Given the description of an element on the screen output the (x, y) to click on. 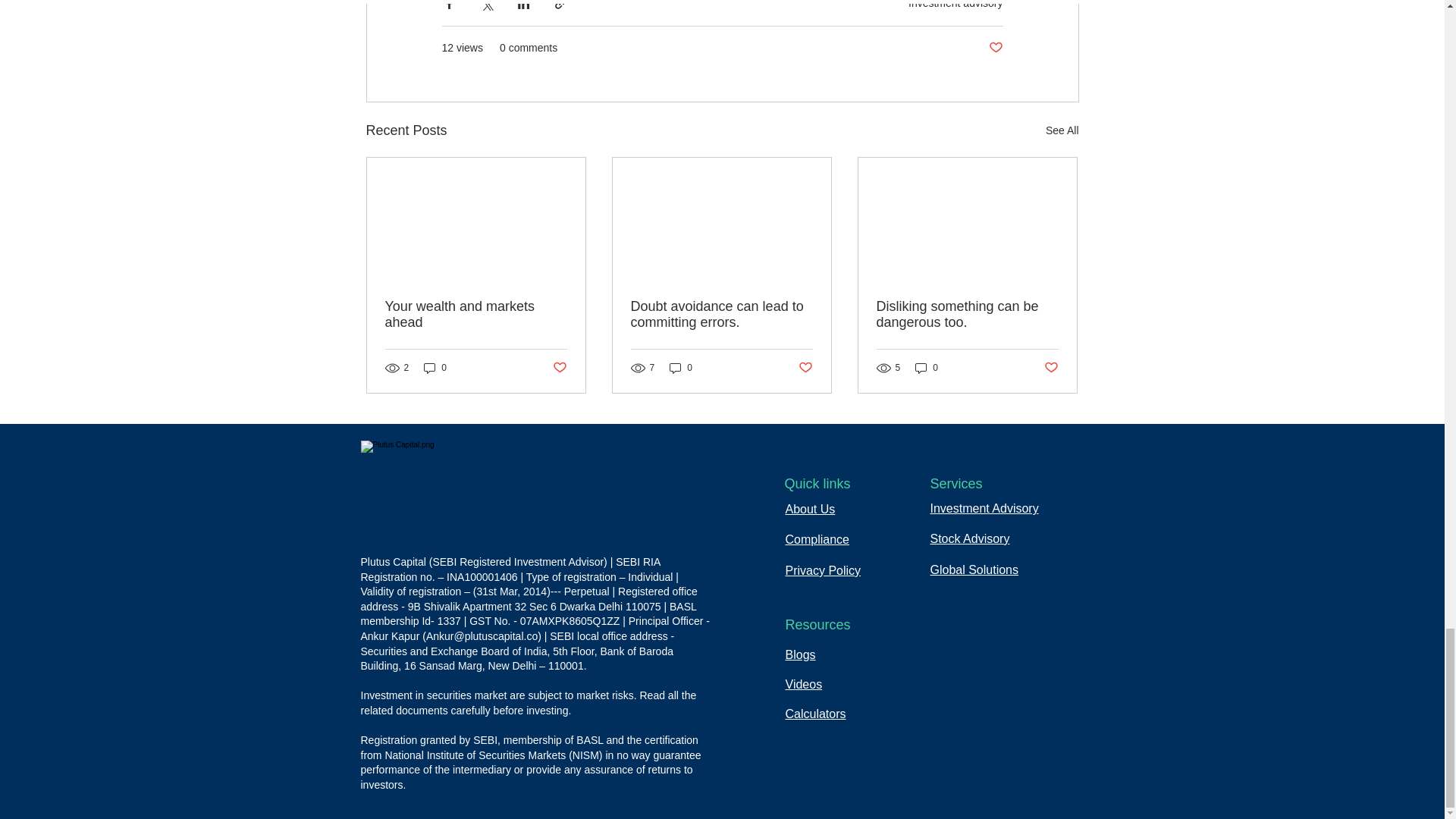
0 (681, 368)
See All (1061, 130)
Your wealth and markets ahead (476, 314)
0 (926, 368)
0 (435, 368)
About Us (810, 508)
Investment advisory (955, 4)
Disliking something can be dangerous too. (967, 314)
Doubt avoidance can lead to committing errors. (721, 314)
Post not marked as liked (995, 48)
Post not marked as liked (1050, 367)
Post not marked as liked (558, 367)
Post not marked as liked (804, 367)
